Given the description of an element on the screen output the (x, y) to click on. 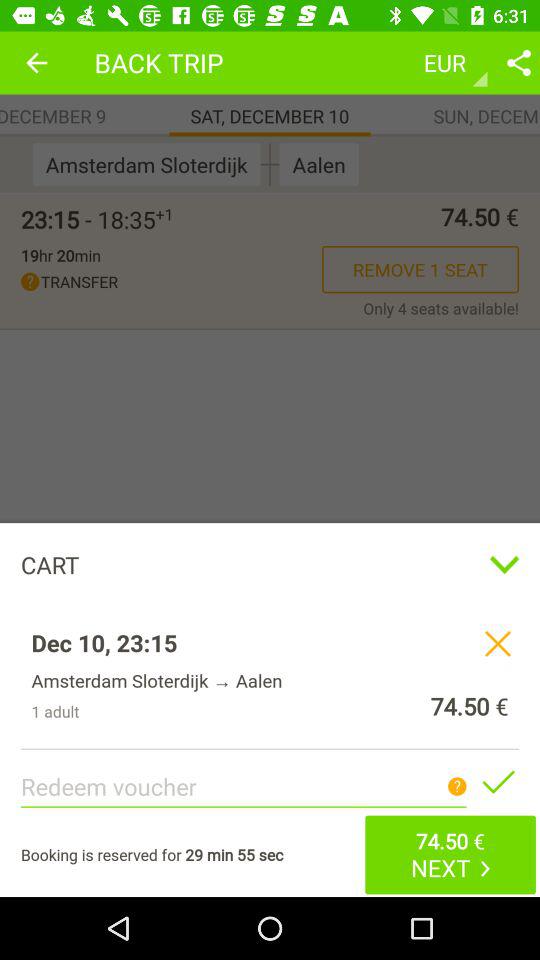
tap transfer icon (171, 281)
